Given the description of an element on the screen output the (x, y) to click on. 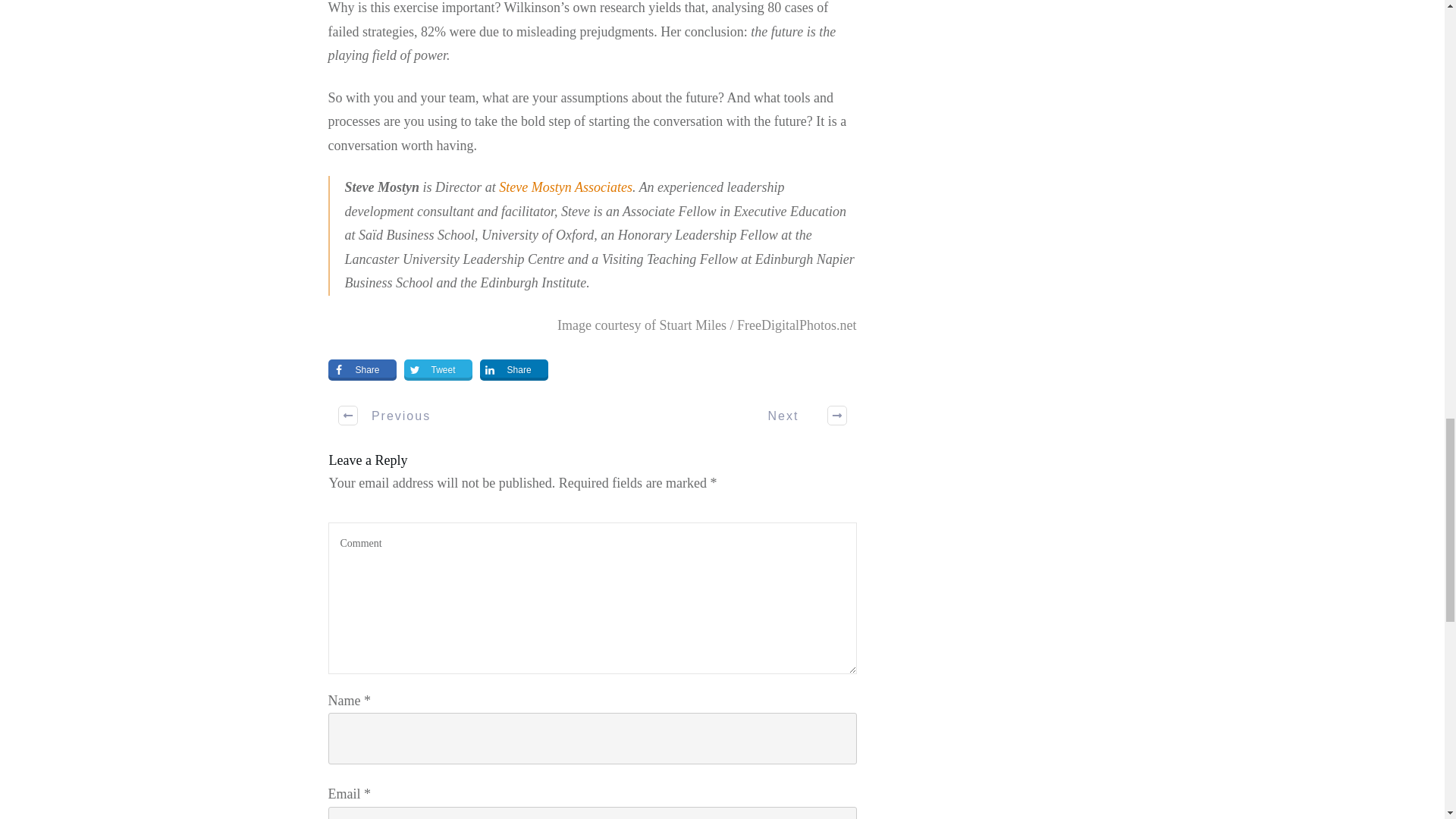
Share (361, 369)
Share (514, 369)
Steve Mostyn Associates (565, 186)
Next (798, 415)
FreeDigitalPhotos.net (796, 324)
Previous (385, 415)
Tweet (437, 369)
